Given the description of an element on the screen output the (x, y) to click on. 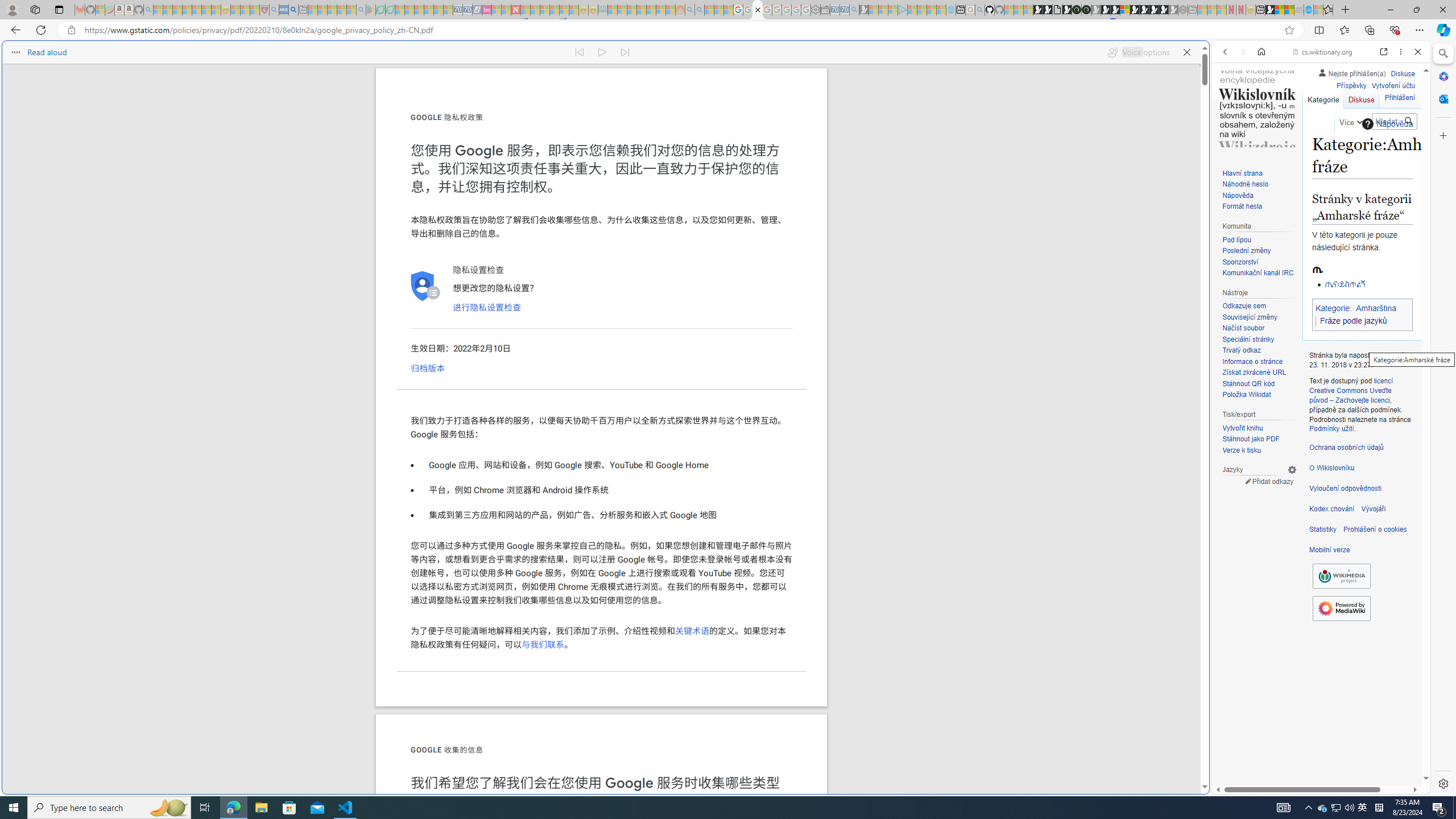
Statistiky (1322, 529)
Wikimedia Foundation (1341, 575)
World - MSN (727, 389)
Utah sues federal government - Search - Sleeping (699, 9)
Home | Sky Blue Bikes - Sky Blue Bikes (1118, 242)
github - Search - Sleeping (979, 9)
